Given the description of an element on the screen output the (x, y) to click on. 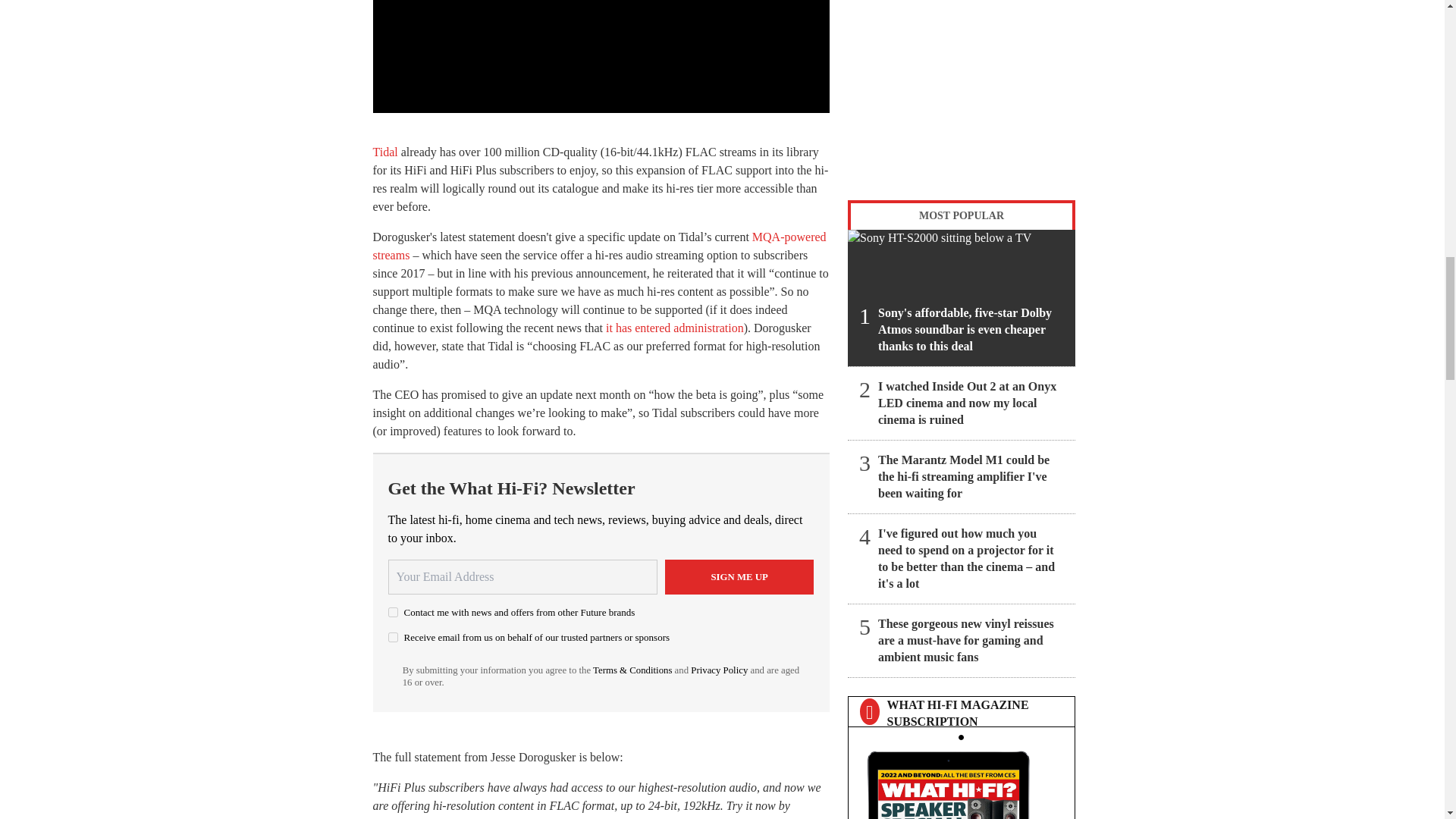
on (392, 612)
Sign me up (739, 576)
on (392, 637)
What Hi-Fi Magazine... (960, 780)
